Given the description of an element on the screen output the (x, y) to click on. 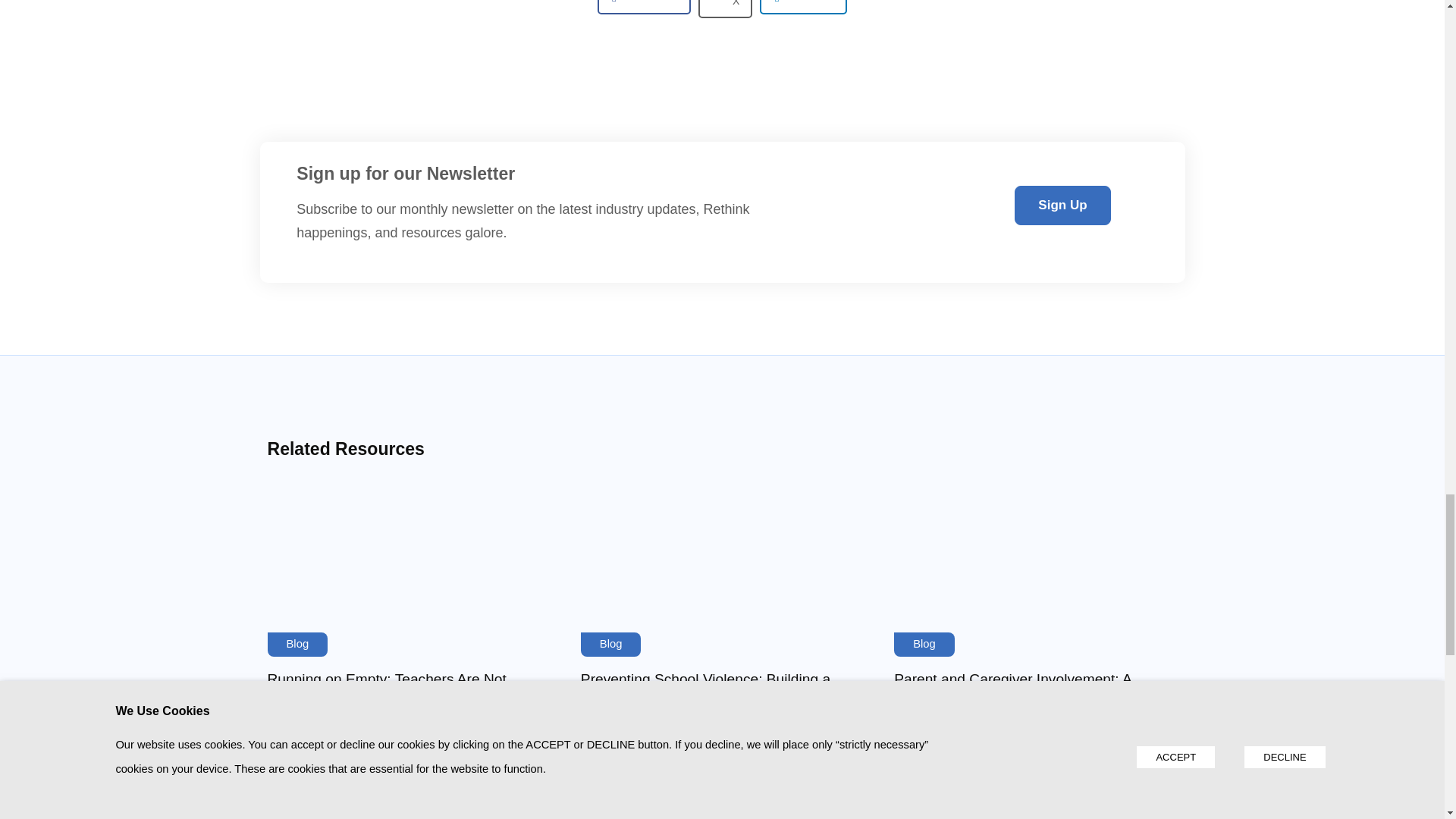
Sign Up (1061, 205)
